Given the description of an element on the screen output the (x, y) to click on. 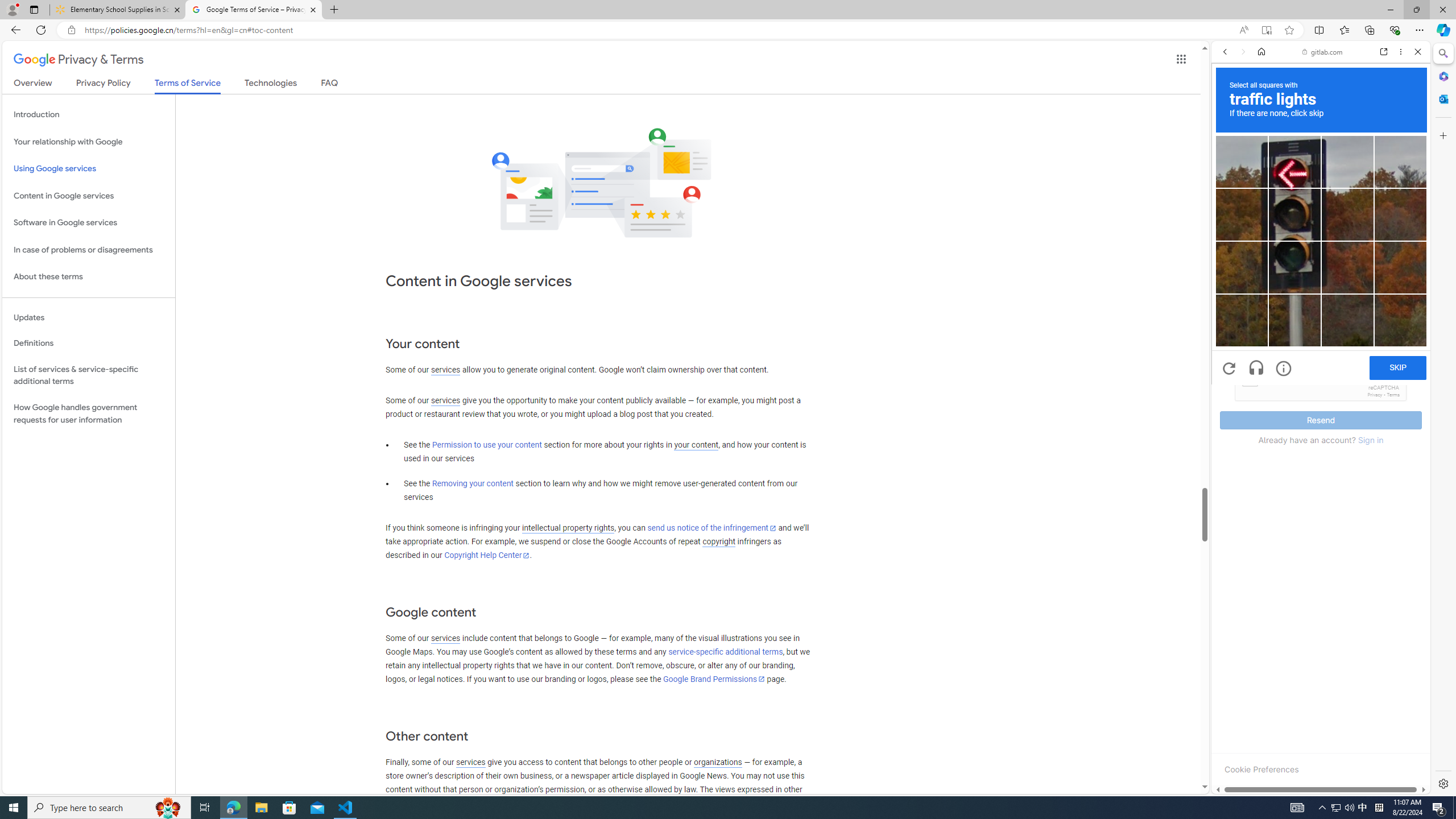
View details (1379, 554)
Login (1320, 281)
Search Filter, ALL (1228, 129)
Confirmation Page (1320, 392)
